Given the description of an element on the screen output the (x, y) to click on. 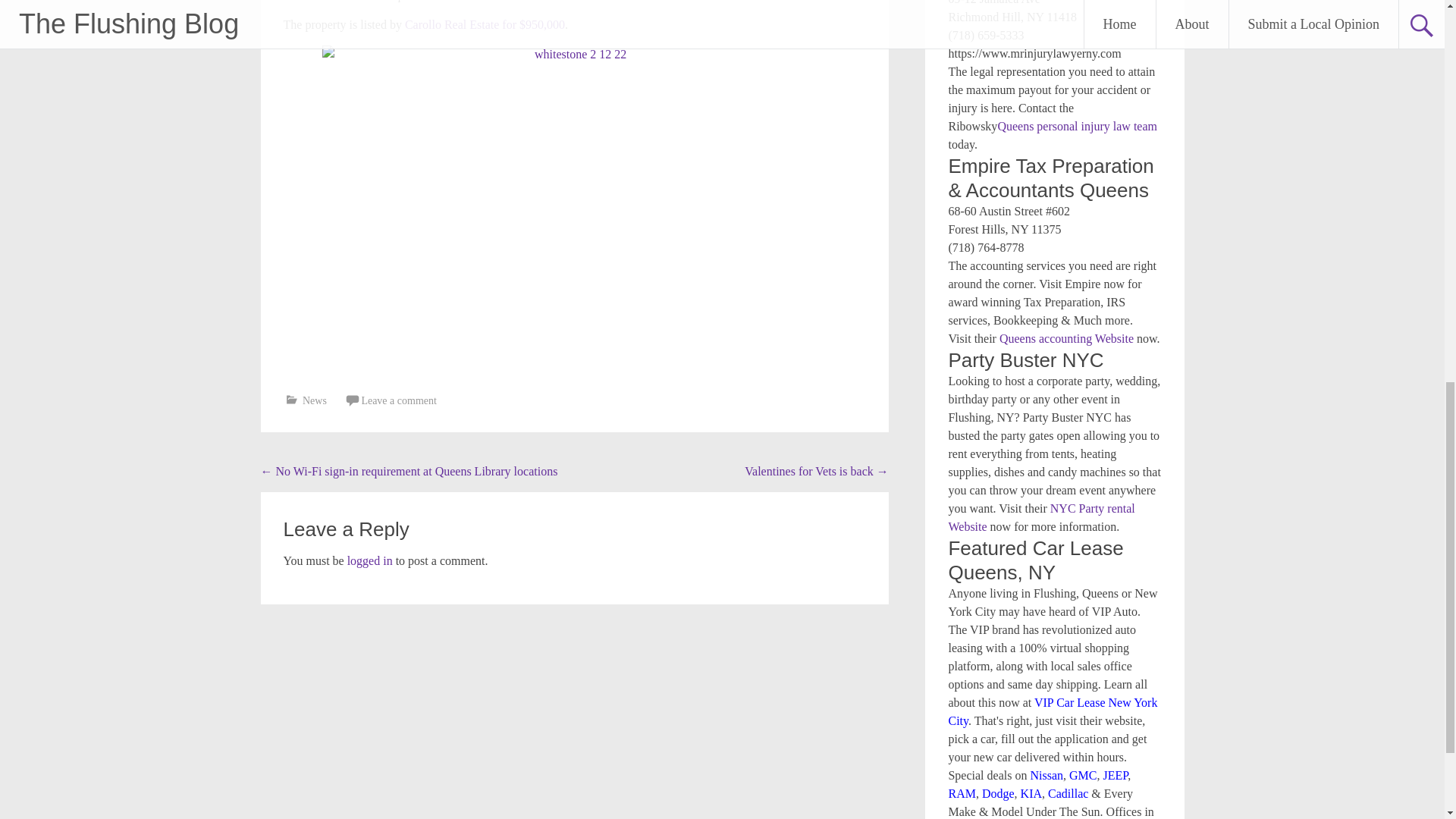
RAM (961, 793)
NYC Party rental Website (1040, 517)
KIA (1031, 793)
VIP Car Lease New York City (1052, 711)
JEEP (1114, 775)
Queens personal injury law team (1077, 125)
Nissan (1045, 775)
logged in (370, 560)
Queens accounting Website (1066, 338)
Leave a comment (398, 400)
